Given the description of an element on the screen output the (x, y) to click on. 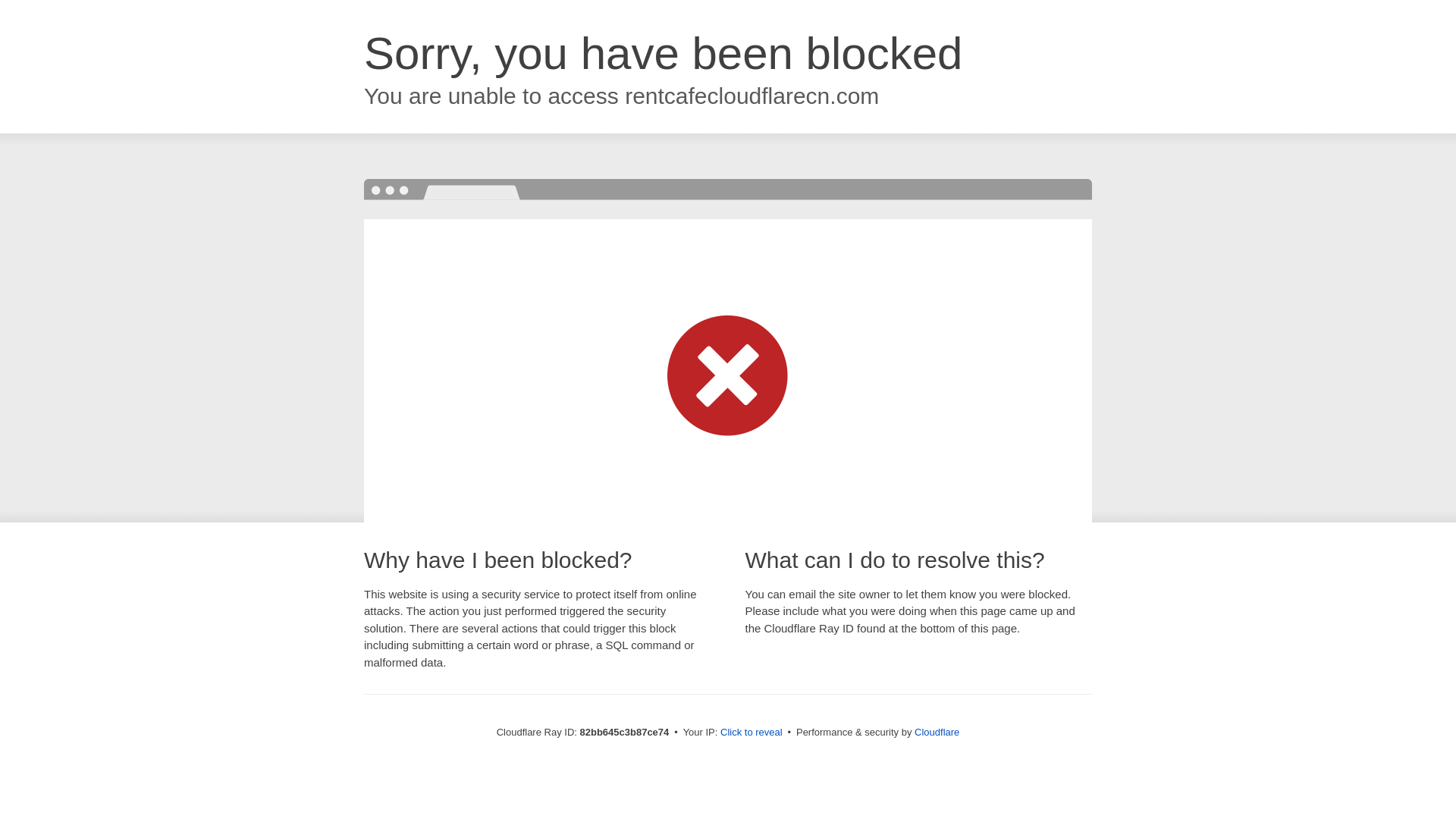
Cloudflare Element type: text (936, 731)
Click to reveal Element type: text (751, 732)
